Given the description of an element on the screen output the (x, y) to click on. 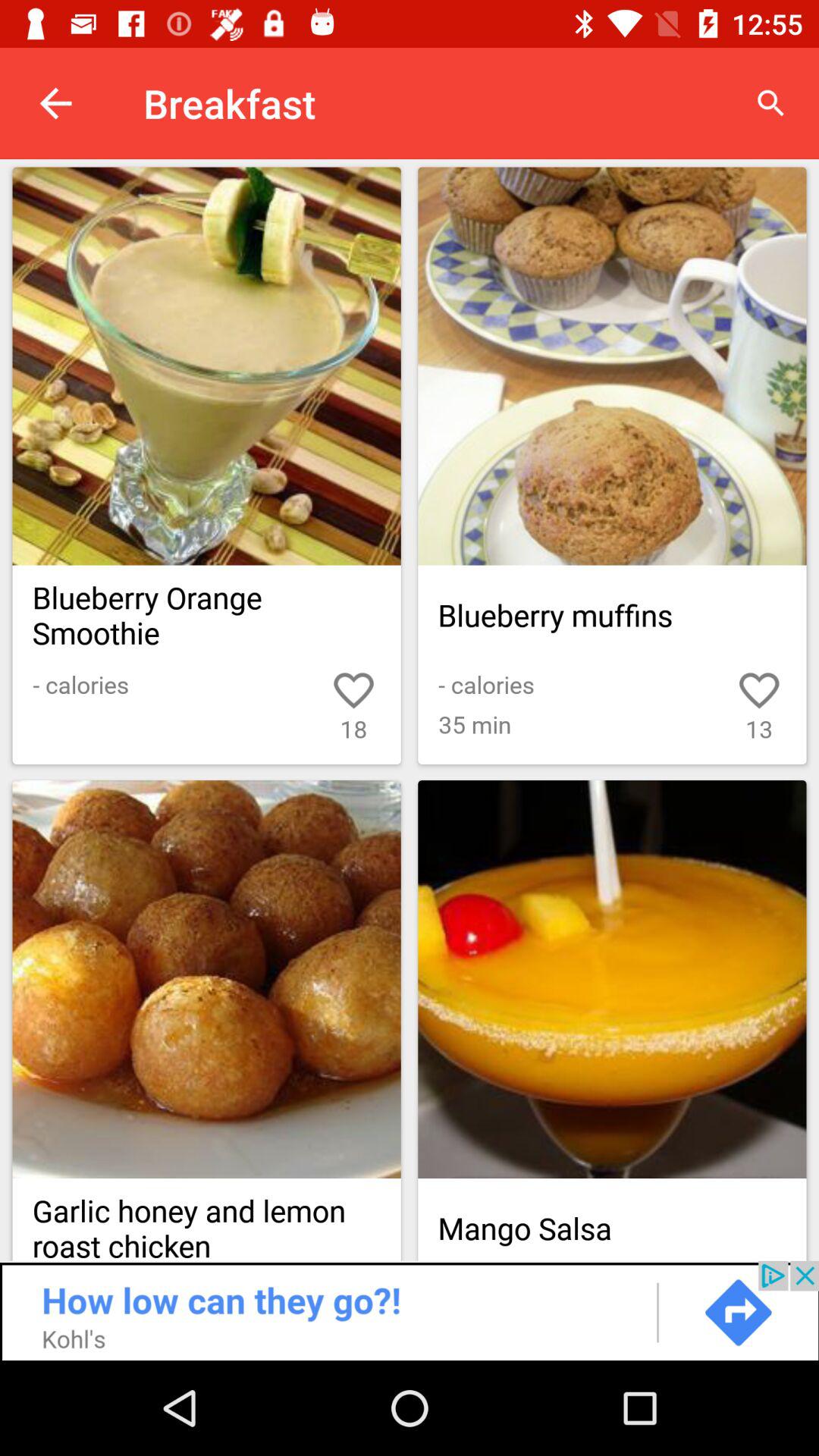
go to blueberry muffins (612, 366)
